Given the description of an element on the screen output the (x, y) to click on. 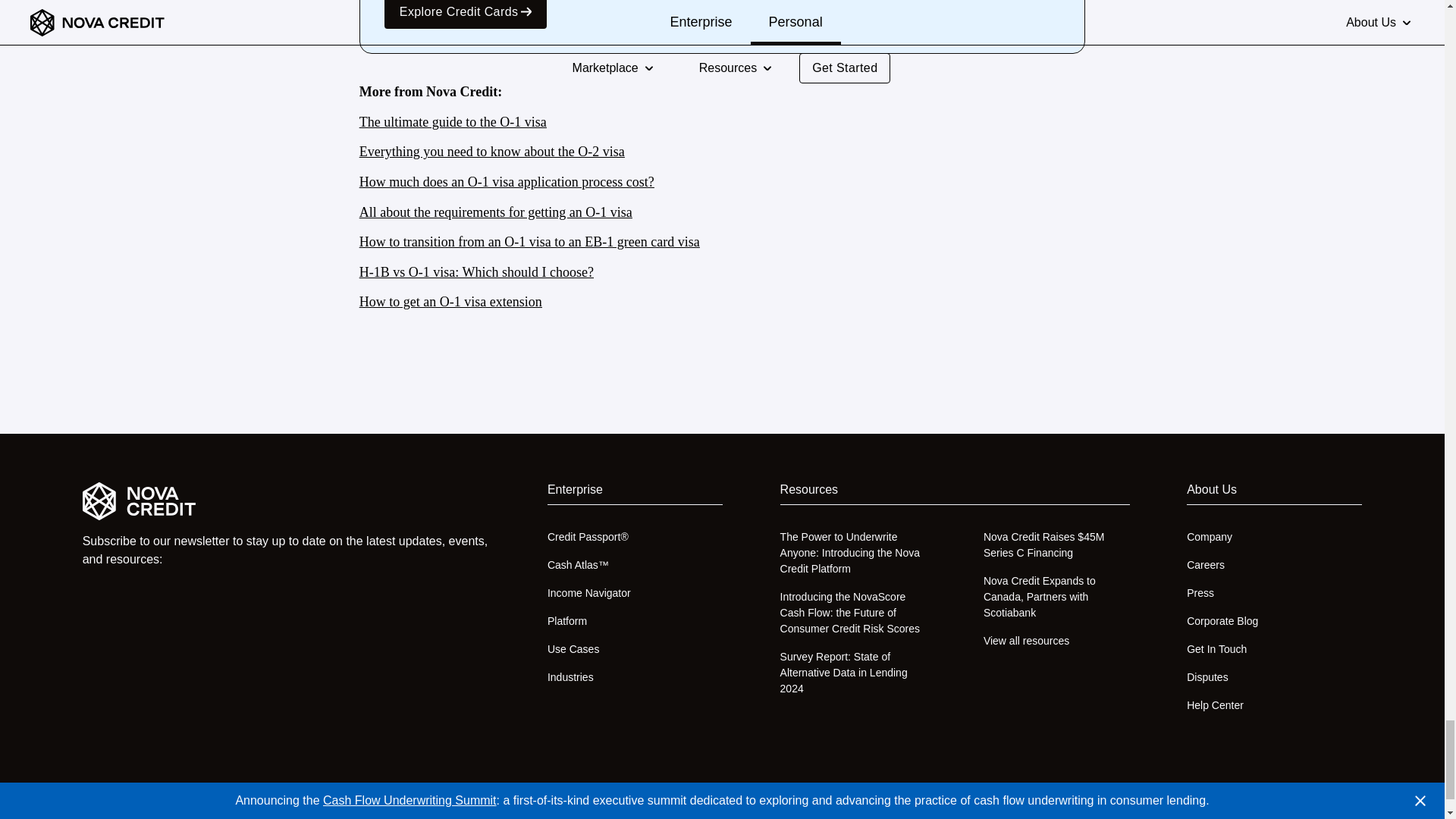
Nova Credit (286, 501)
